Given the description of an element on the screen output the (x, y) to click on. 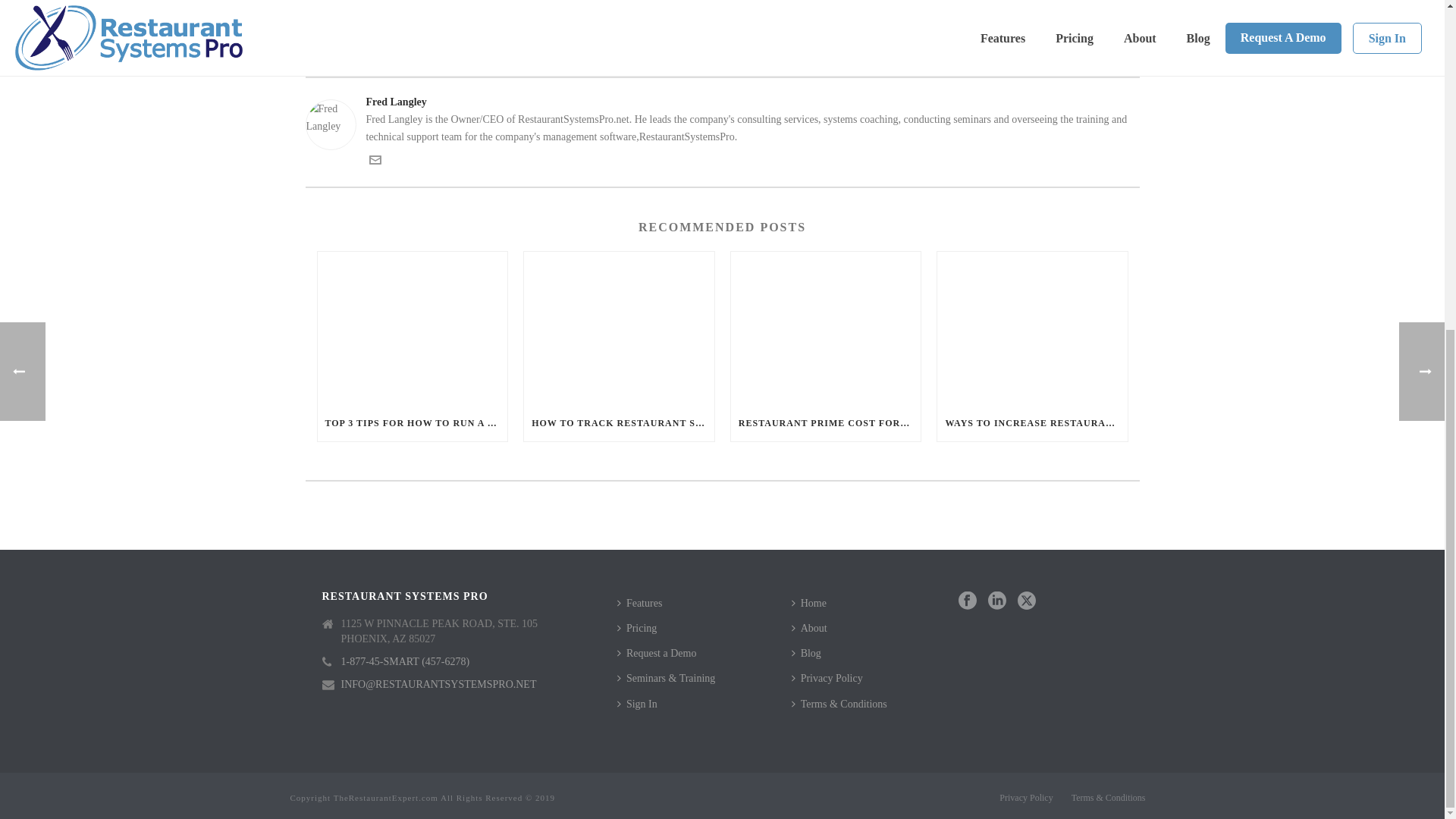
Restaurant Expert (623, 51)
HOW TO TRACK RESTAURANT SALES CORRECTLY (619, 422)
David Scott Peters (341, 51)
TOP 3 TIPS FOR HOW TO RUN A RESTAURANT (411, 422)
Restaurant Budget (547, 51)
Top 3 Tips for How to Run a Restaurant (411, 327)
Get in touch with me via email (374, 162)
Independent Restaurant Owner (443, 51)
Ways to Increase Restaurant Sales (1031, 327)
Follow Us on linkedin (997, 601)
Follow Us on facebook (967, 601)
Fred Langley (721, 101)
How to Track Restaurant Sales Correctly (619, 327)
Restaurant Prime Cost Formula (825, 327)
